Given the description of an element on the screen output the (x, y) to click on. 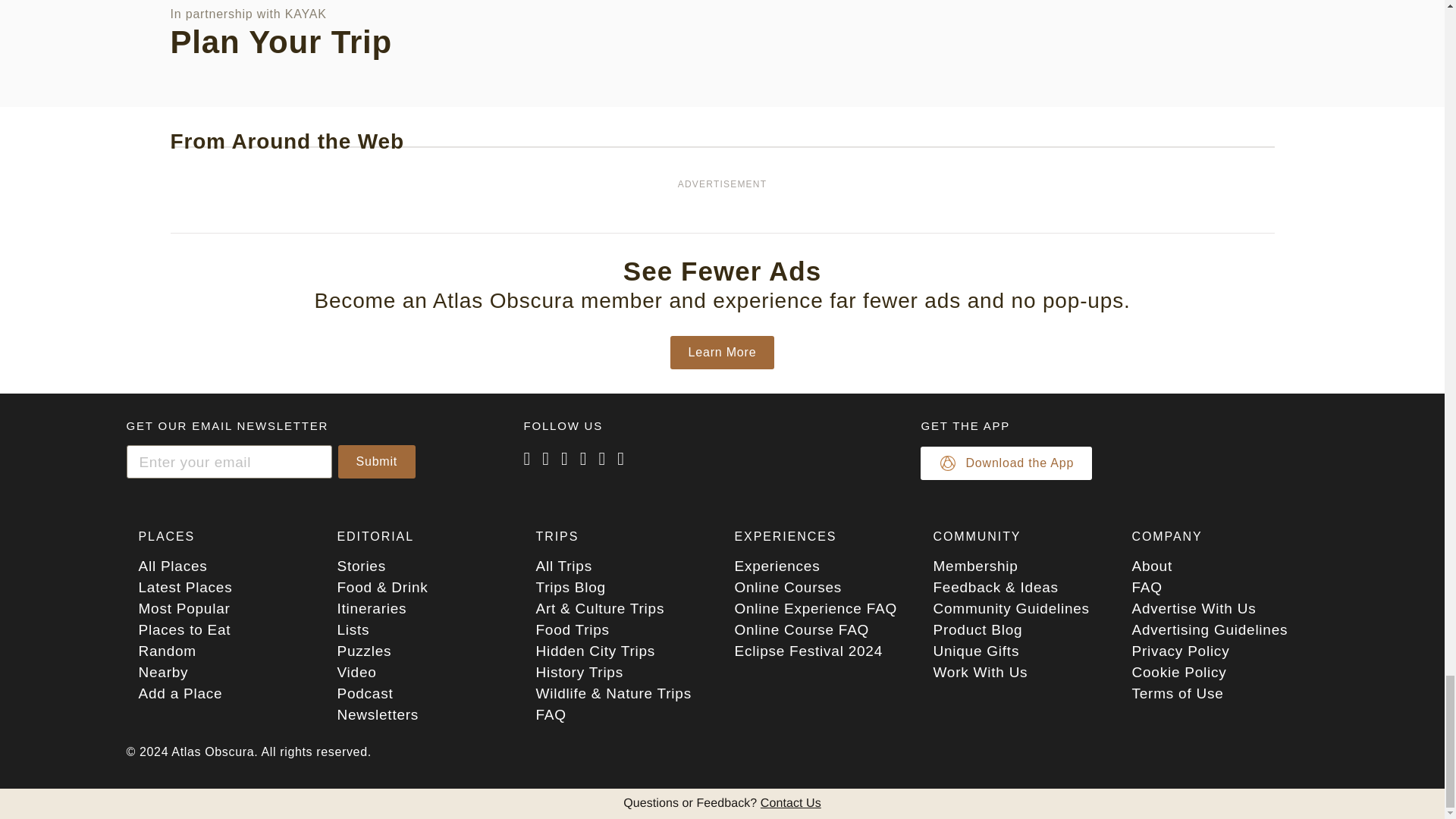
Submit (376, 461)
